Given the description of an element on the screen output the (x, y) to click on. 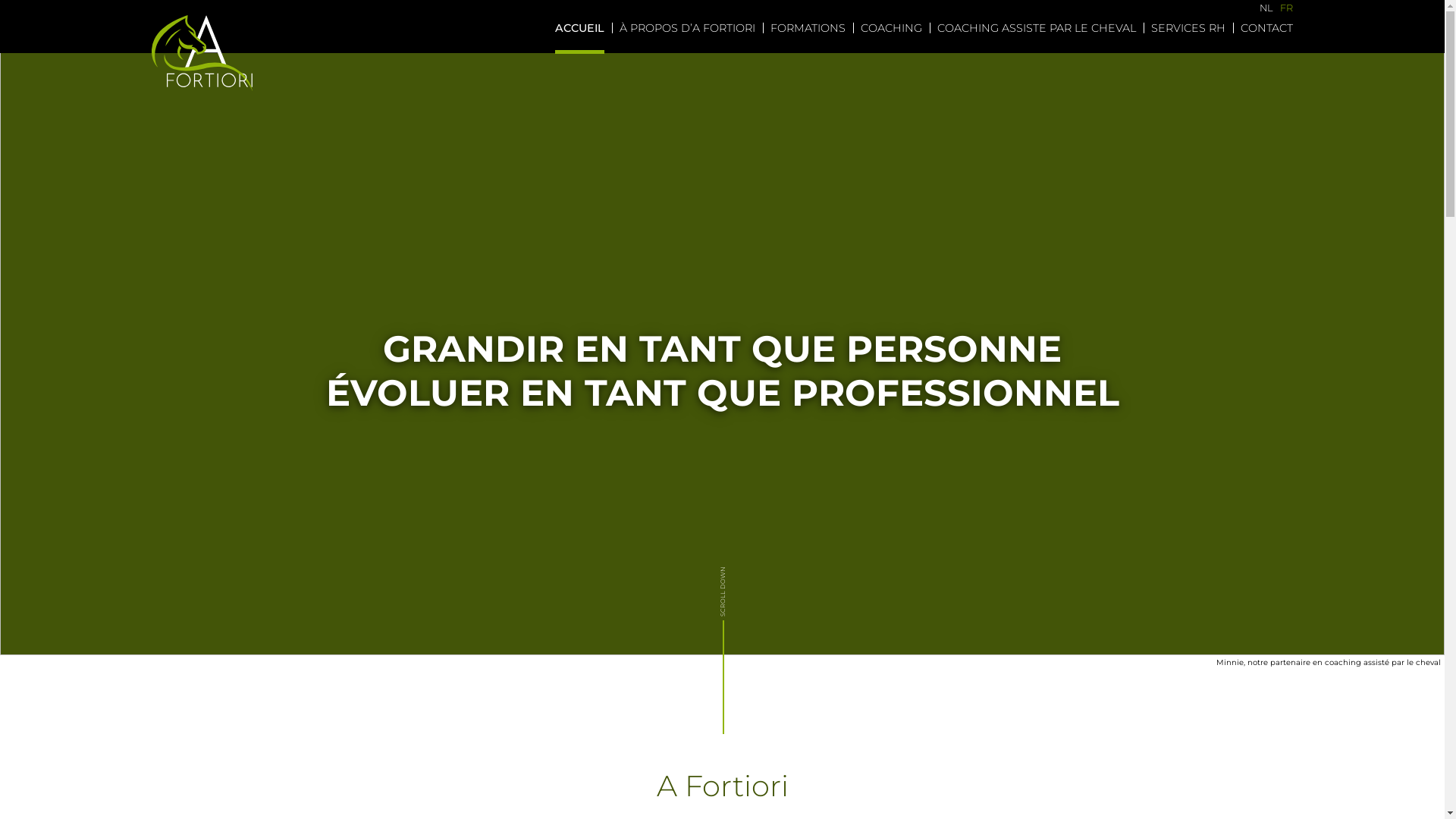
COACHING ASSISTE PAR LE CHEVAL Element type: text (1036, 27)
COACHING Element type: text (891, 27)
ACCUEIL Element type: text (579, 27)
NL Element type: text (1265, 8)
FR Element type: text (1286, 8)
CONTACT Element type: text (1266, 27)
FORMATIONS Element type: text (807, 27)
SERVICES RH Element type: text (1188, 27)
